Given the description of an element on the screen output the (x, y) to click on. 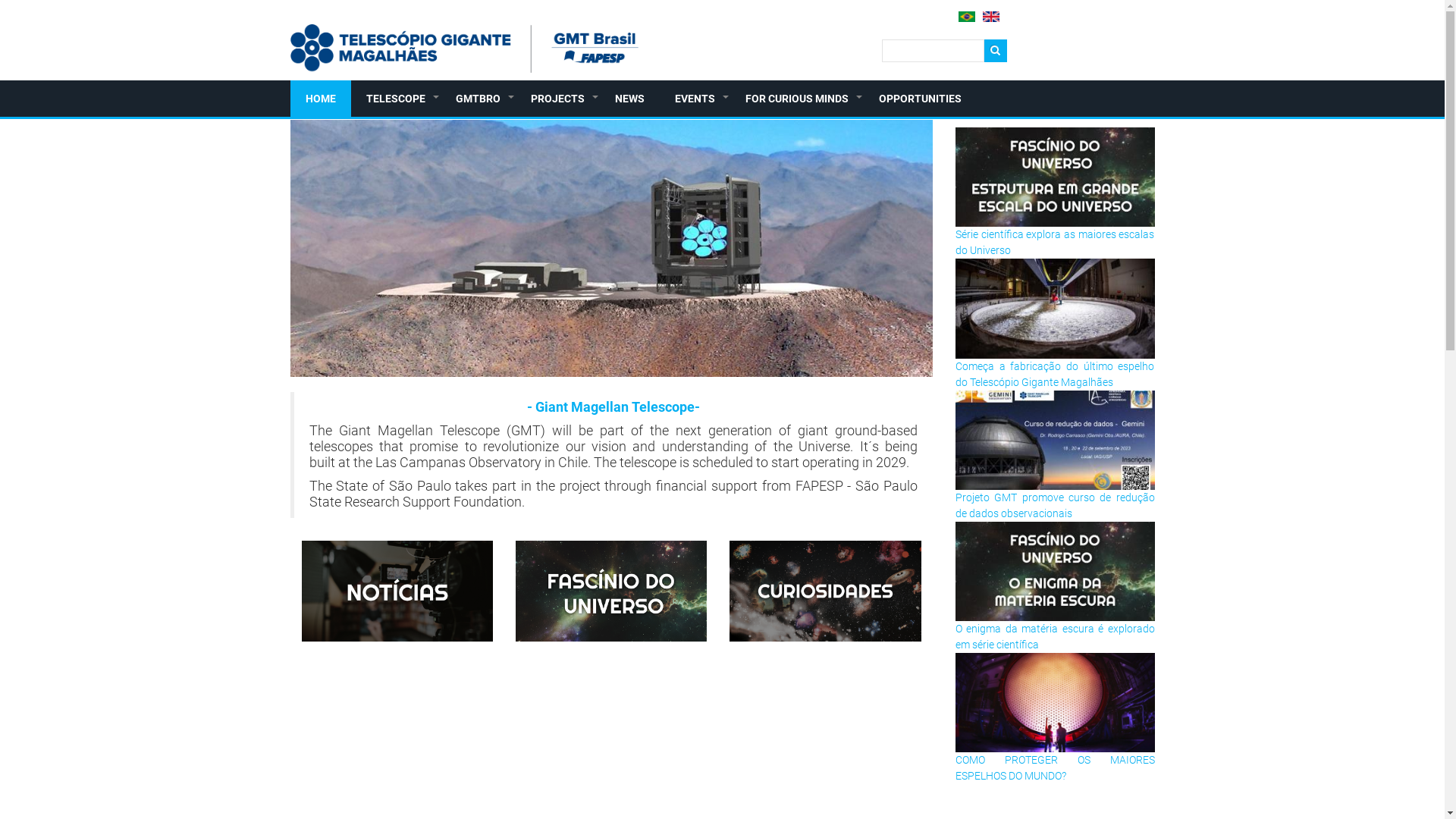
Search Element type: text (995, 50)
Portuguese, Brazil Element type: hover (966, 16)
+
EVENTS Element type: text (694, 98)
4 Element type: text (633, 363)
English Element type: hover (990, 16)
2 Element type: text (603, 363)
NEWS Element type: text (628, 98)
+
GMTBRO Element type: text (476, 98)
1 Element type: text (588, 363)
3 Element type: text (618, 363)
+
PROJECTS Element type: text (557, 98)
+
FOR CURIOUS MINDS Element type: text (795, 98)
Skip to main content Element type: text (0, 0)
HOME Element type: text (319, 98)
OPPORTUNITIES Element type: text (918, 98)
COMO PROTEGER OS MAIORES ESPELHOS DO MUNDO? Element type: text (1054, 767)
Enter the terms you wish to search for. Element type: hover (932, 50)
- Giant Magellan Telescope- Element type: text (613, 406)
+
TELESCOPE Element type: text (394, 98)
